Given the description of an element on the screen output the (x, y) to click on. 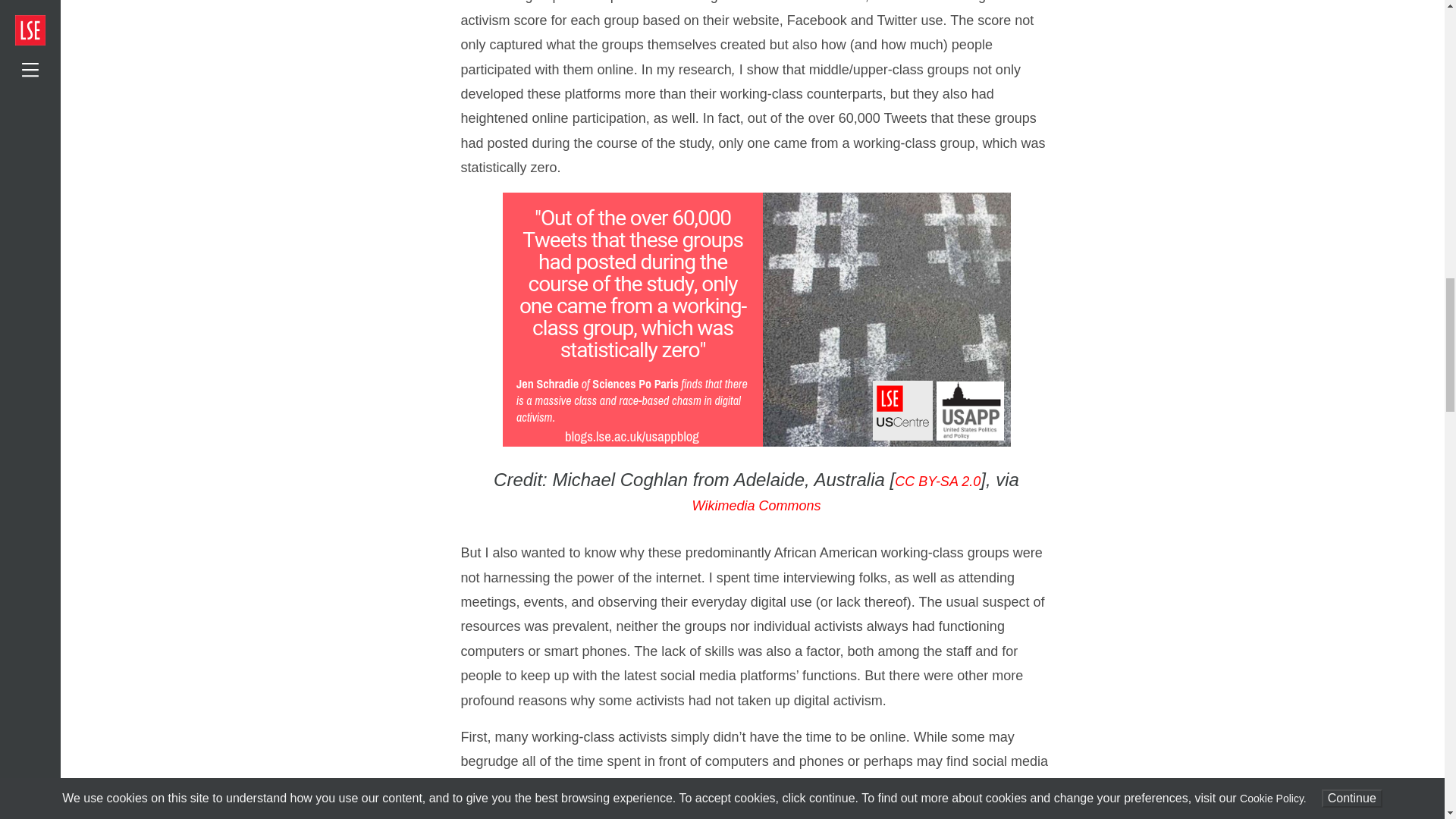
CC BY-SA 2.0 (937, 481)
Wikimedia Commons (757, 505)
